Given the description of an element on the screen output the (x, y) to click on. 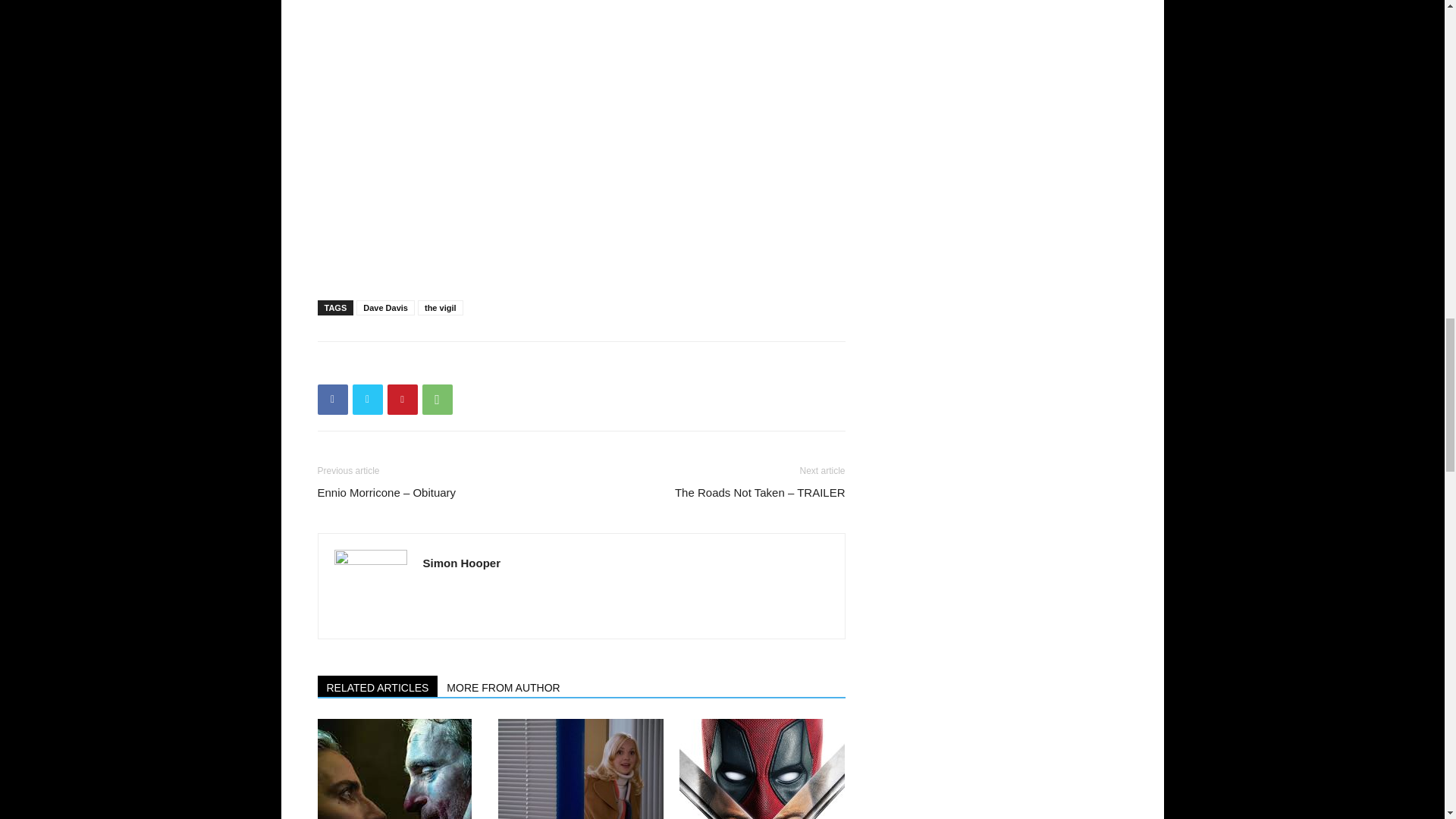
Advertisement (580, 248)
bottomFacebookLike (430, 365)
Facebook (332, 399)
